Given the description of an element on the screen output the (x, y) to click on. 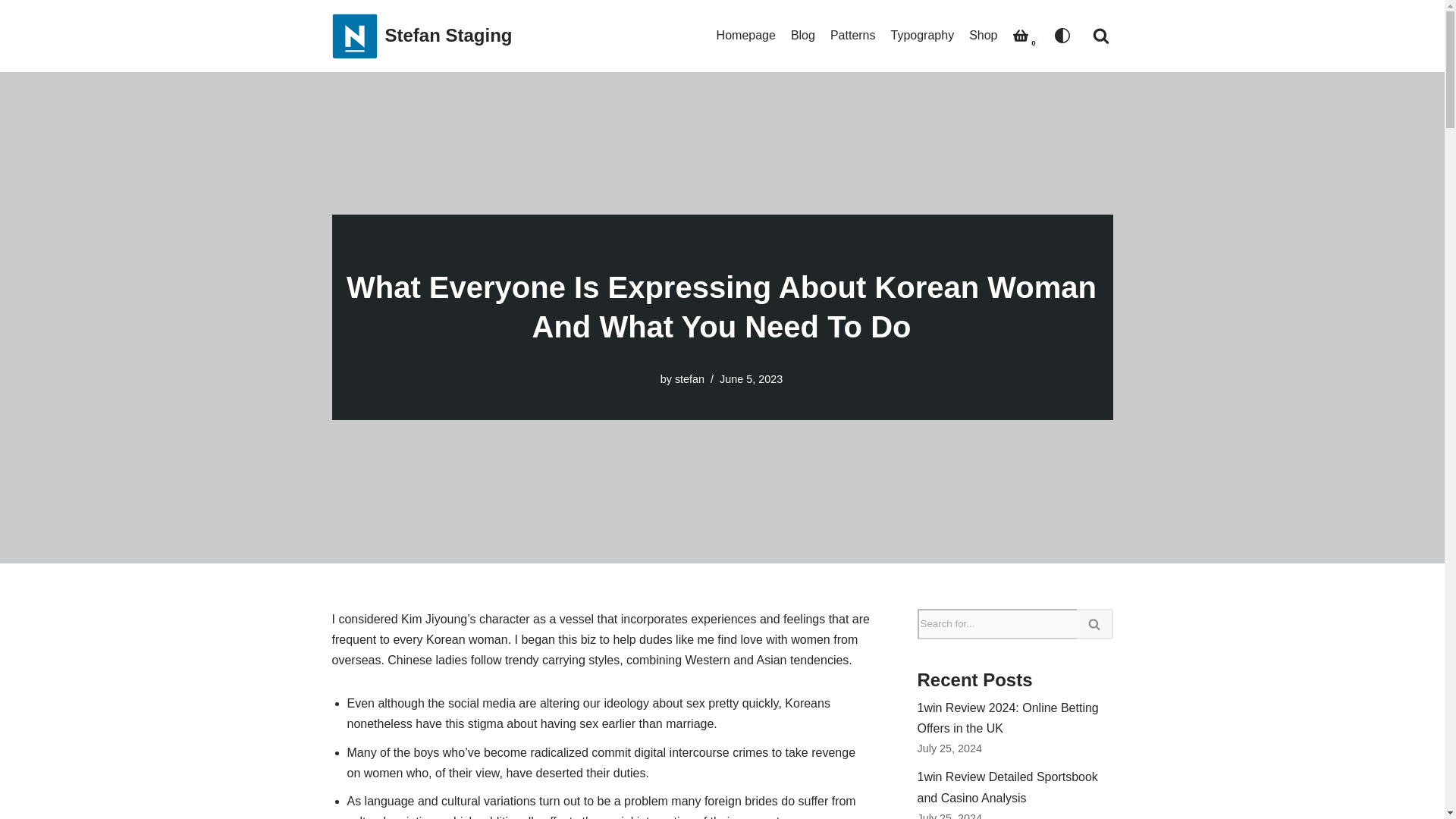
Patterns (852, 35)
stefan (689, 378)
Homepage (746, 35)
Typography (923, 35)
Skip to content (11, 31)
0 (1020, 35)
1win Review Detailed Sportsbook and Casino Analysis (1007, 786)
Stefan Staging (421, 35)
Shop (983, 35)
1win Review 2024: Online Betting Offers in the UK (1008, 717)
Blog (802, 35)
Stefan Staging (421, 35)
Posts by stefan (689, 378)
